Given the description of an element on the screen output the (x, y) to click on. 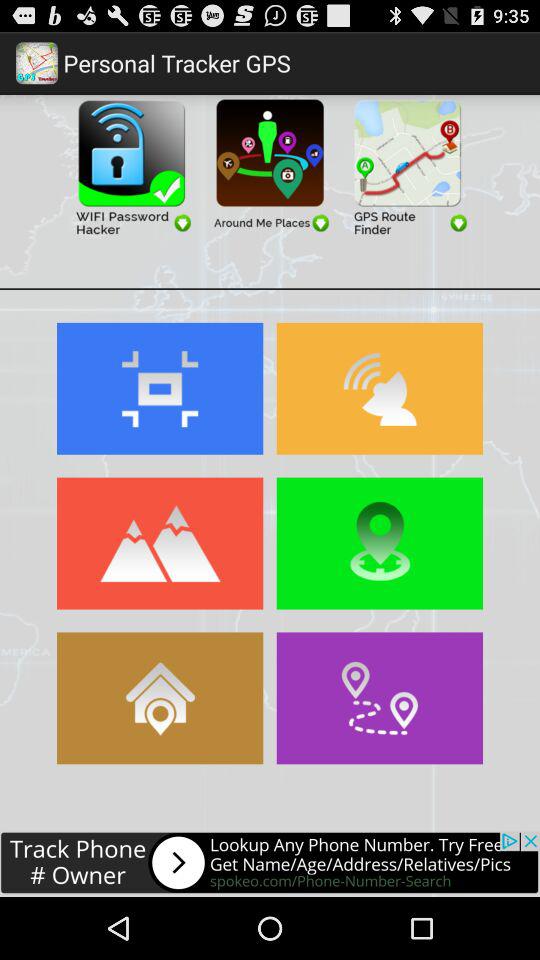
advertisement (407, 165)
